Given the description of an element on the screen output the (x, y) to click on. 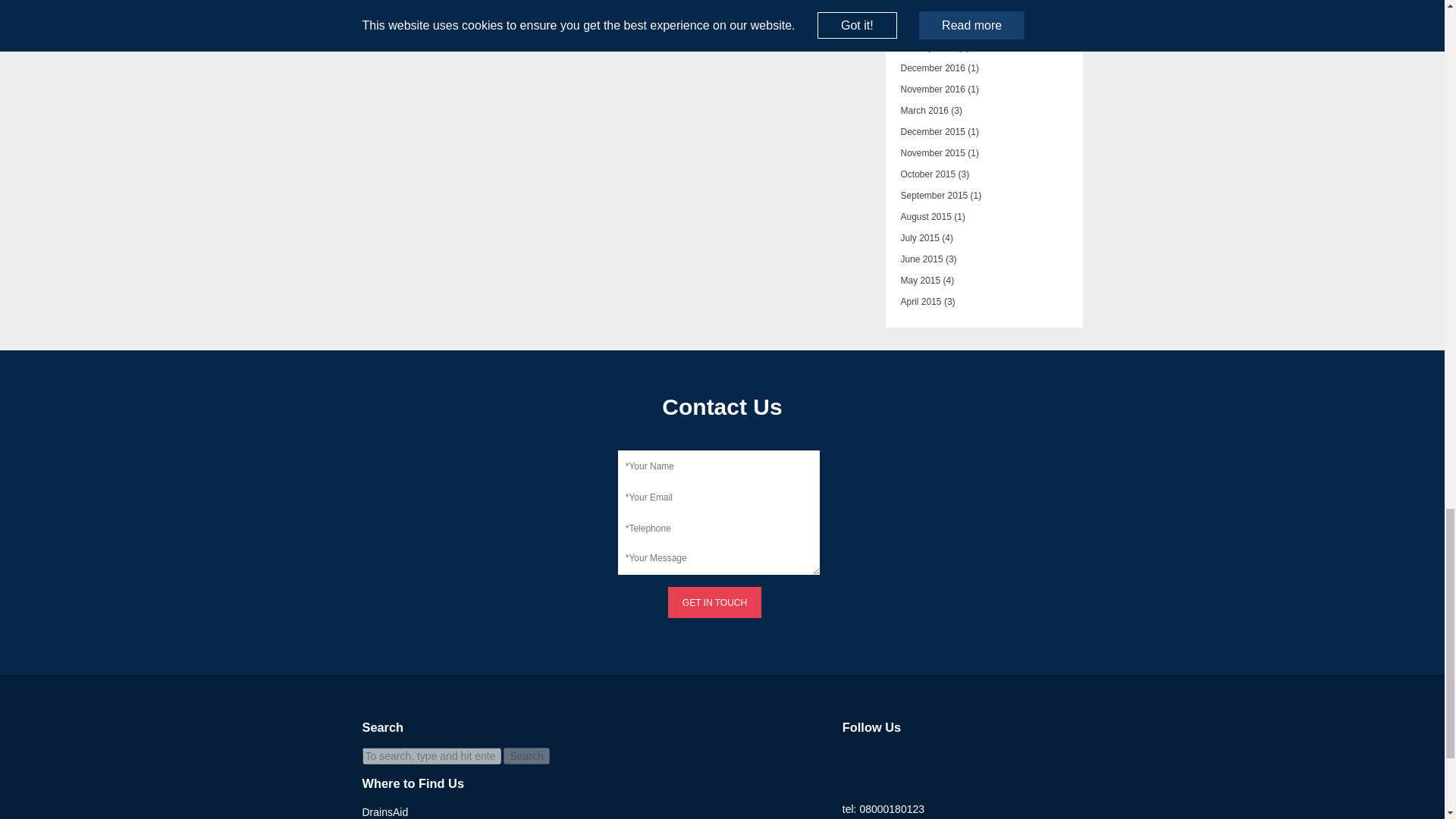
GET IN TOUCH (714, 602)
